Given the description of an element on the screen output the (x, y) to click on. 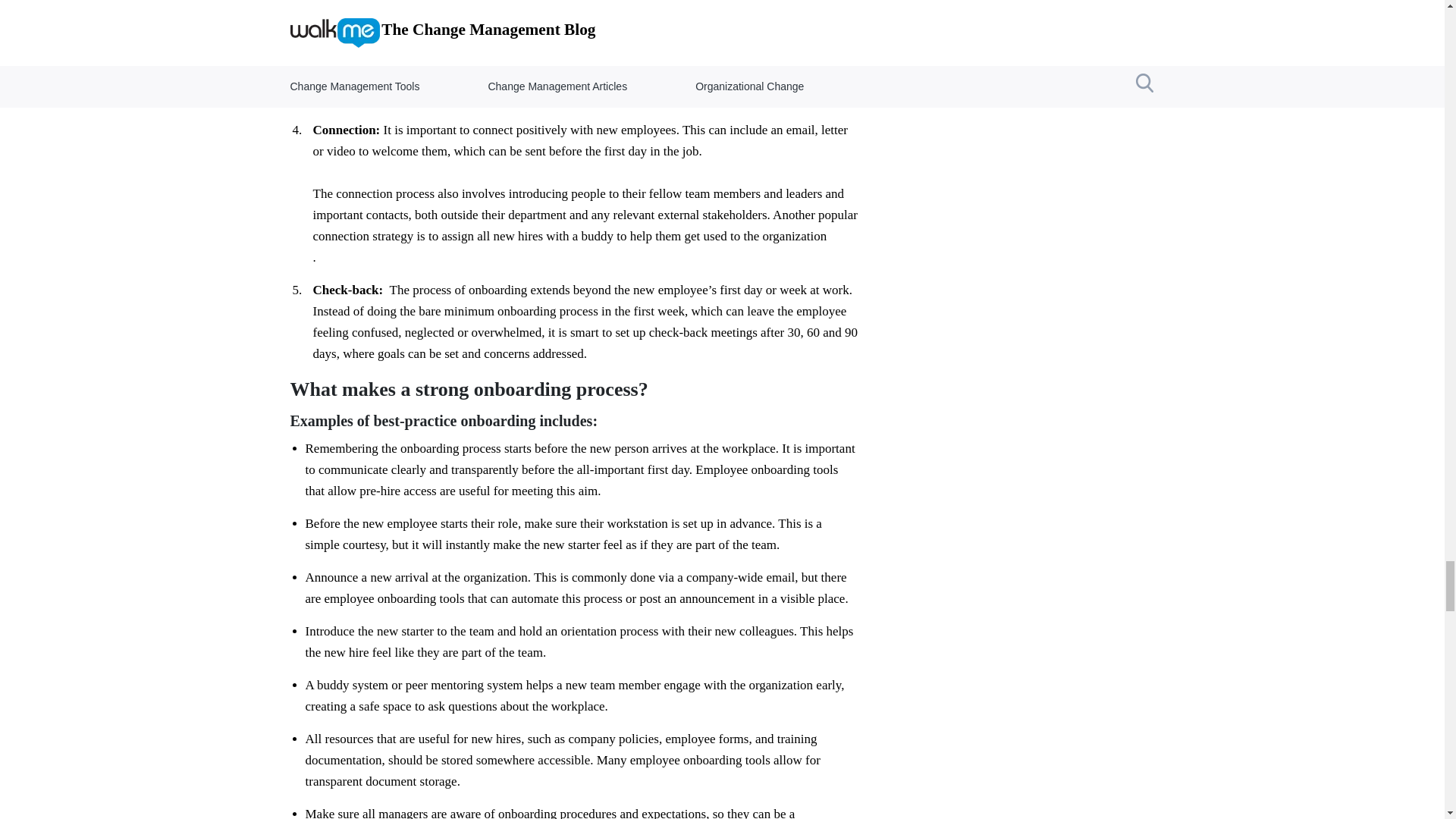
wellbeing (809, 76)
